Given the description of an element on the screen output the (x, y) to click on. 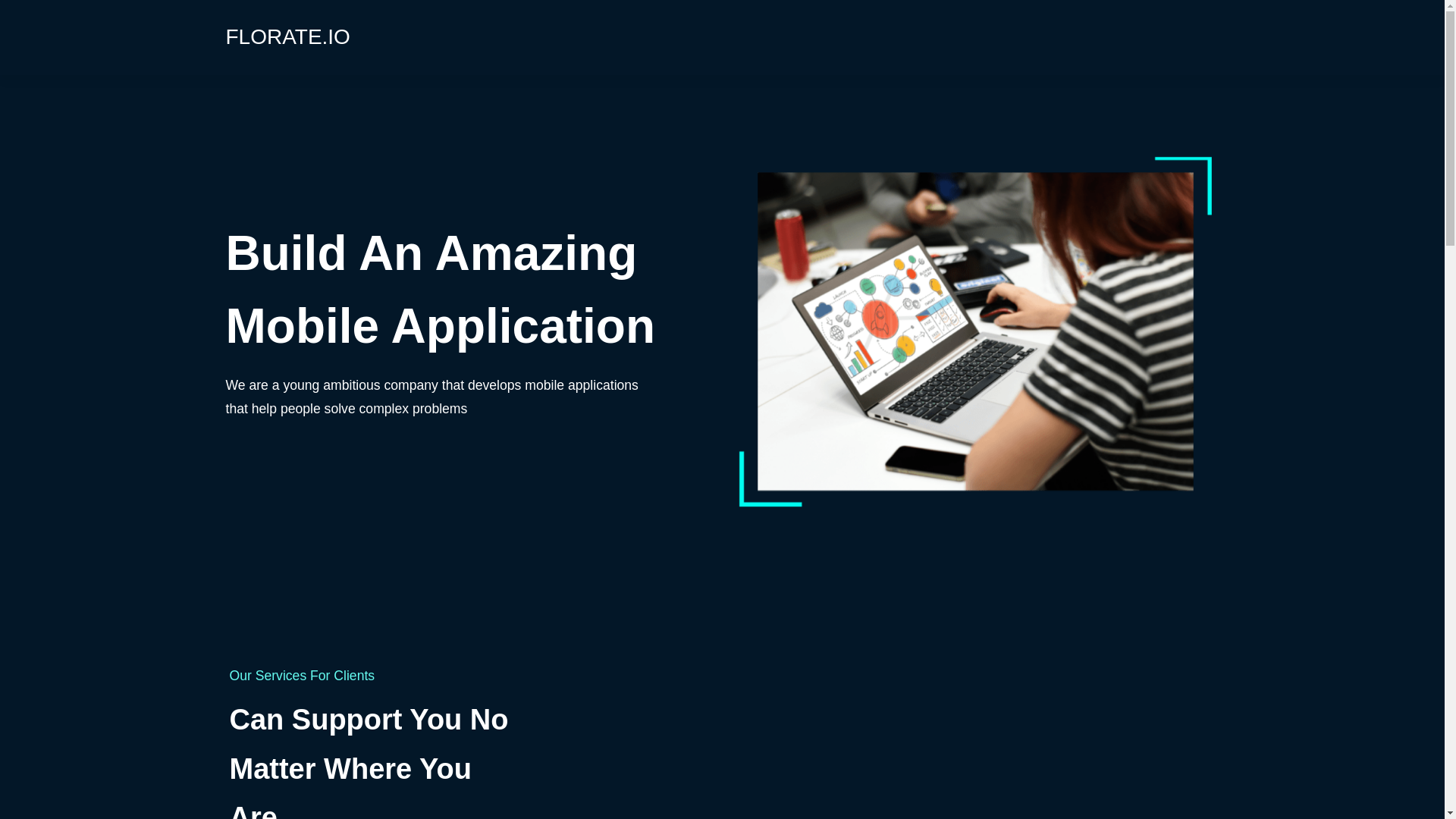
FLORATE.IO (287, 38)
